Given the description of an element on the screen output the (x, y) to click on. 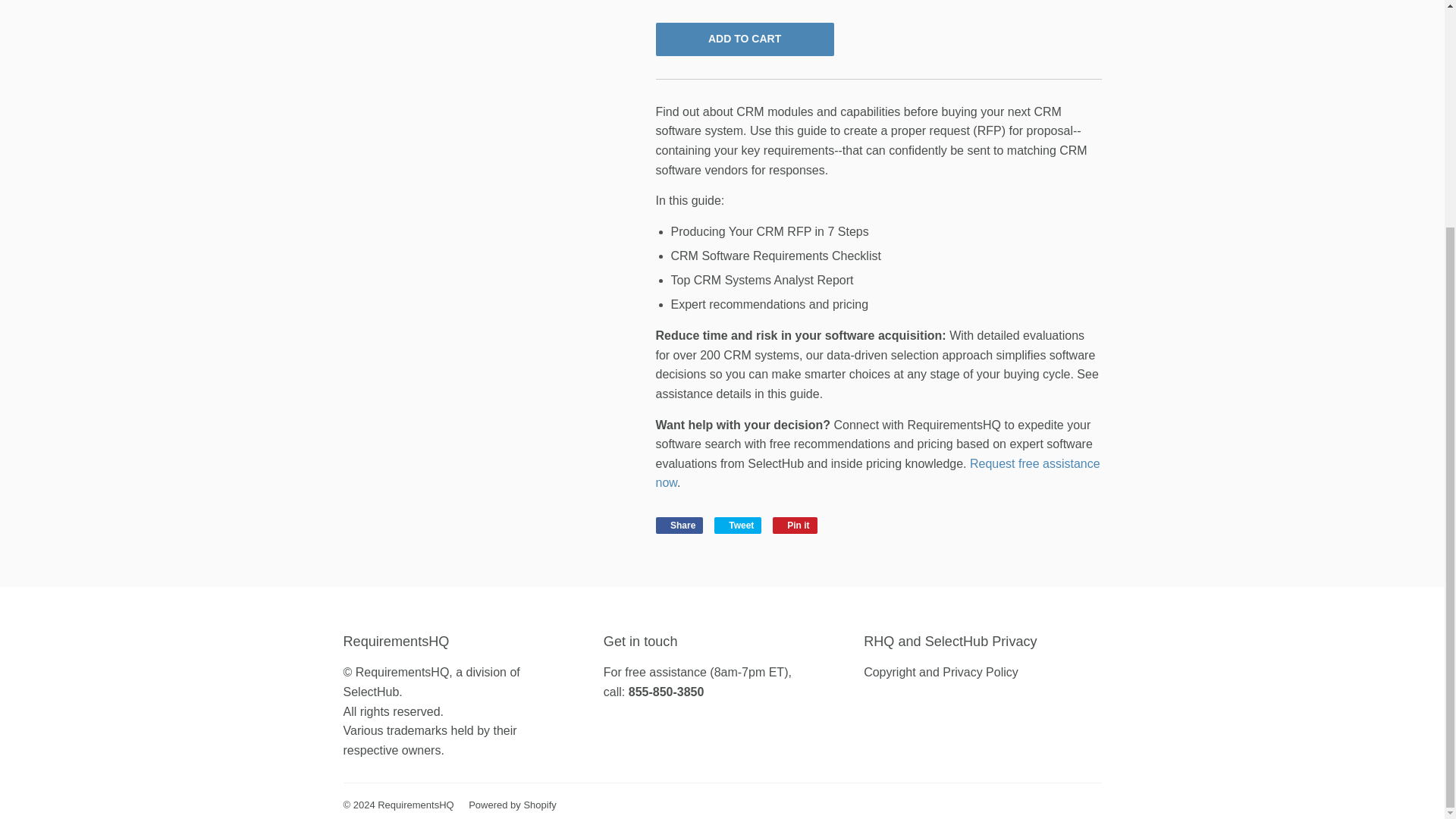
Share on Facebook (679, 524)
Tweet on Twitter (737, 524)
RequirementsHQ (737, 524)
Request free assistance now (414, 804)
Copyright and Privacy Policy (877, 473)
Pin on Pinterest (940, 671)
Powered by Shopify (679, 524)
ADD TO CART (794, 524)
